Given the description of an element on the screen output the (x, y) to click on. 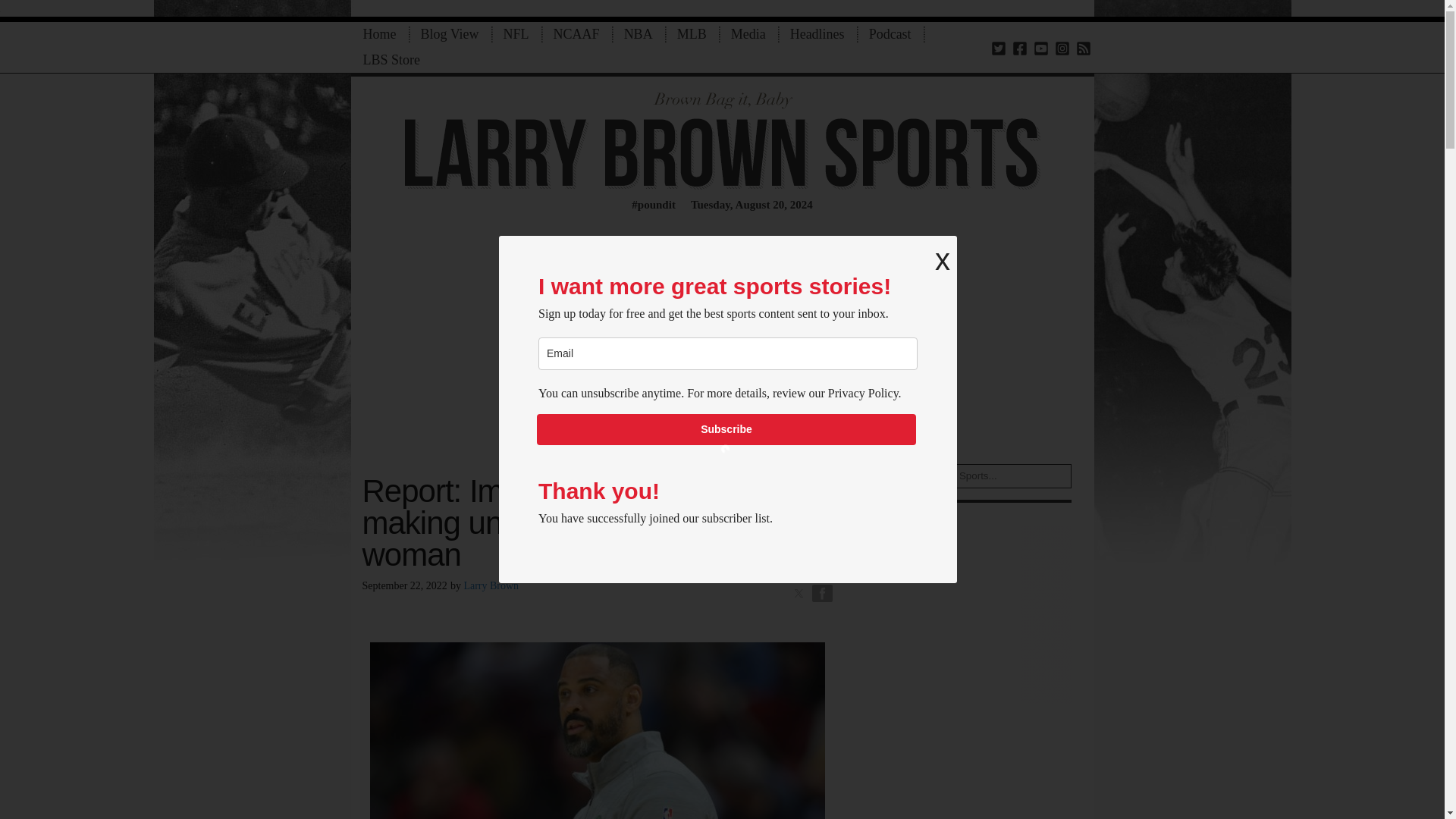
Podcast (890, 34)
View Larry Brown Sports Instagram (1061, 47)
View Larry Brown Sports Twitter (998, 47)
NCAAF (576, 34)
Home (378, 34)
NFL (516, 34)
Blog View (448, 34)
Subscribe (726, 429)
View Larry Brown Sports Facebook (1018, 47)
Subscribe to Larry Brown Sports RSS Feed (1082, 47)
